Given the description of an element on the screen output the (x, y) to click on. 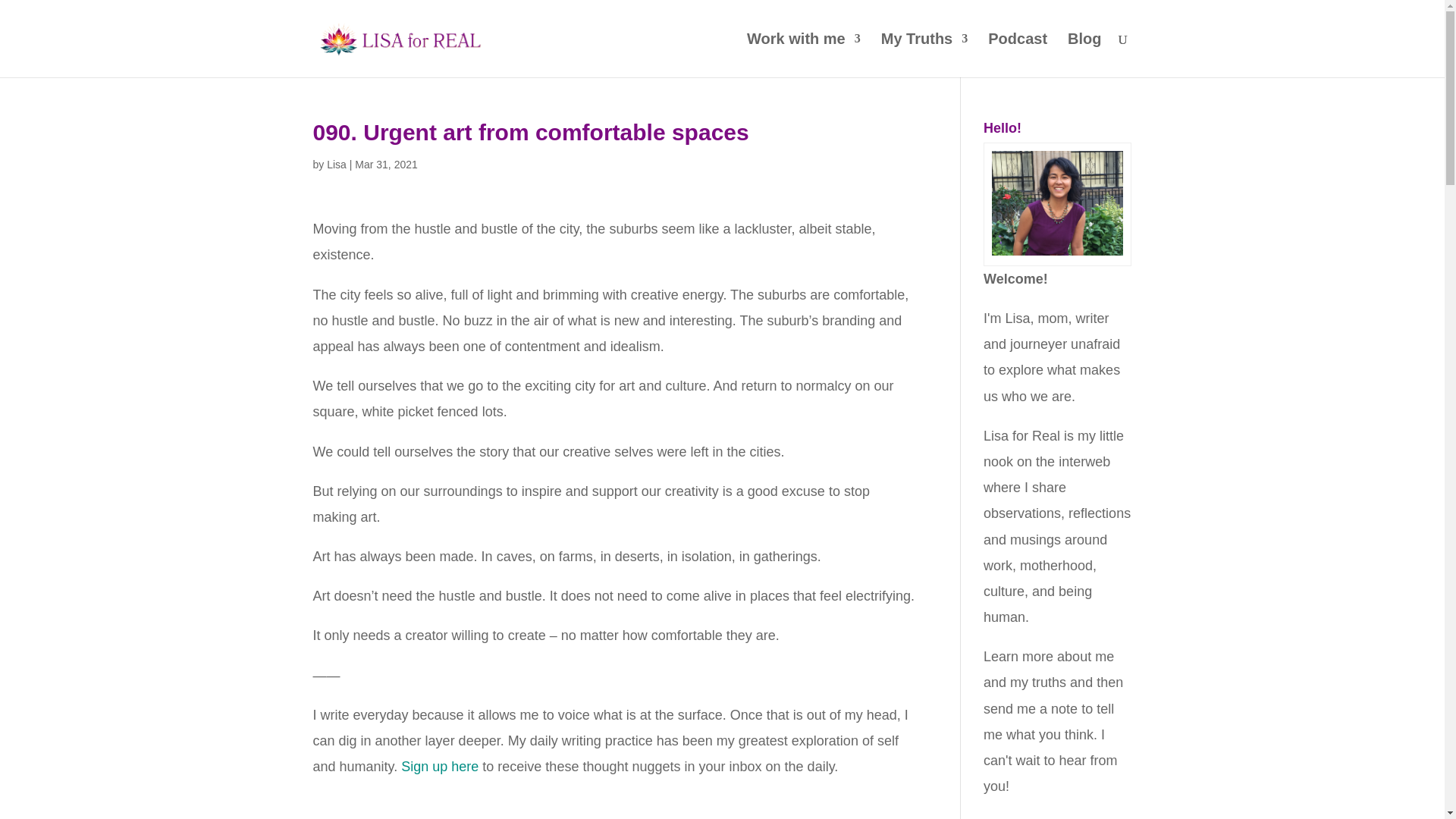
My Truths (924, 54)
send me a note (1030, 708)
my truths (1037, 682)
Podcast (1017, 54)
Work with me (803, 54)
Lisa (336, 164)
Sign up here (440, 766)
Posts by Lisa (336, 164)
